Given the description of an element on the screen output the (x, y) to click on. 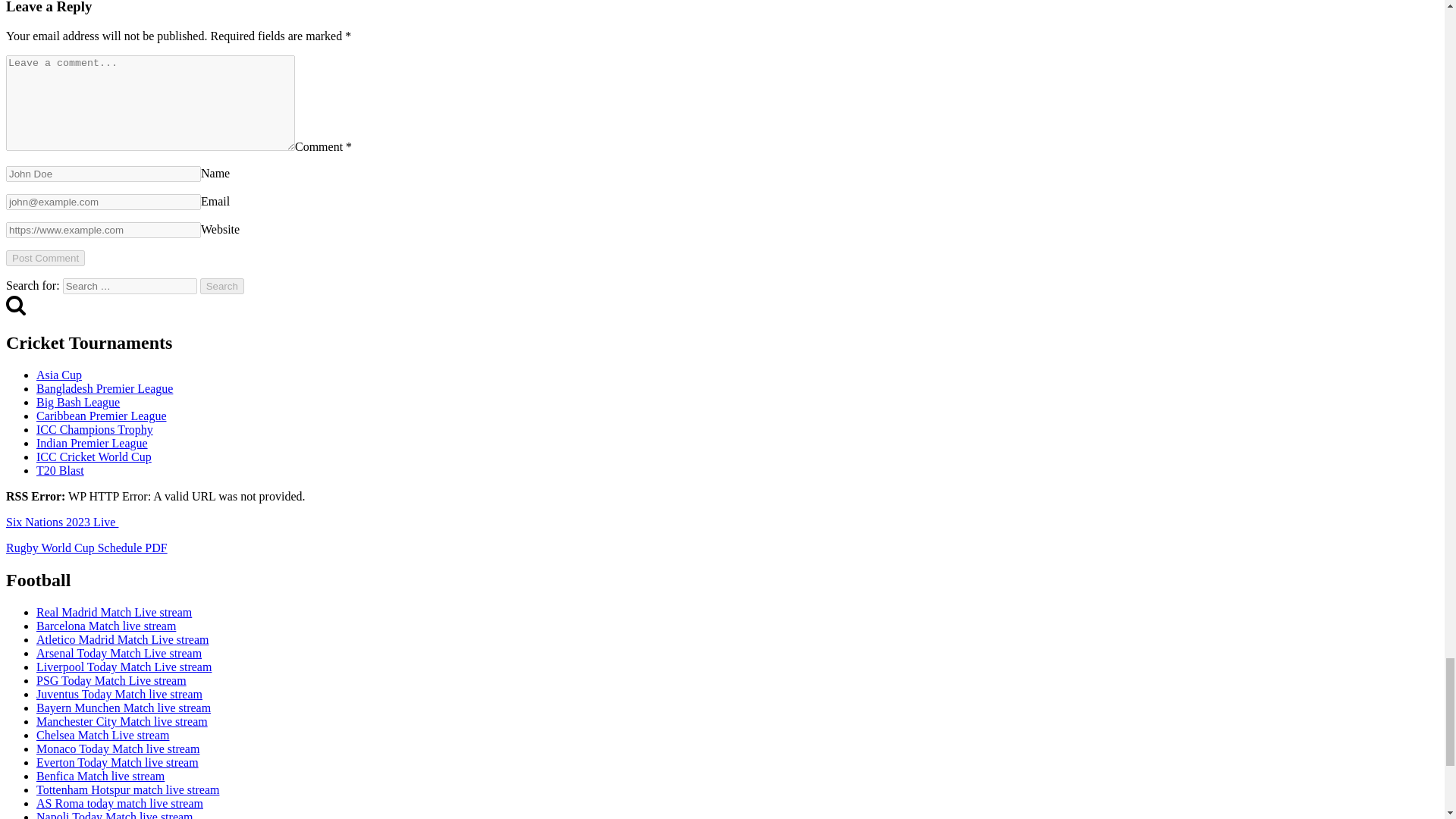
Post Comment (44, 258)
Search (15, 304)
Search (222, 286)
Search (222, 286)
